Given the description of an element on the screen output the (x, y) to click on. 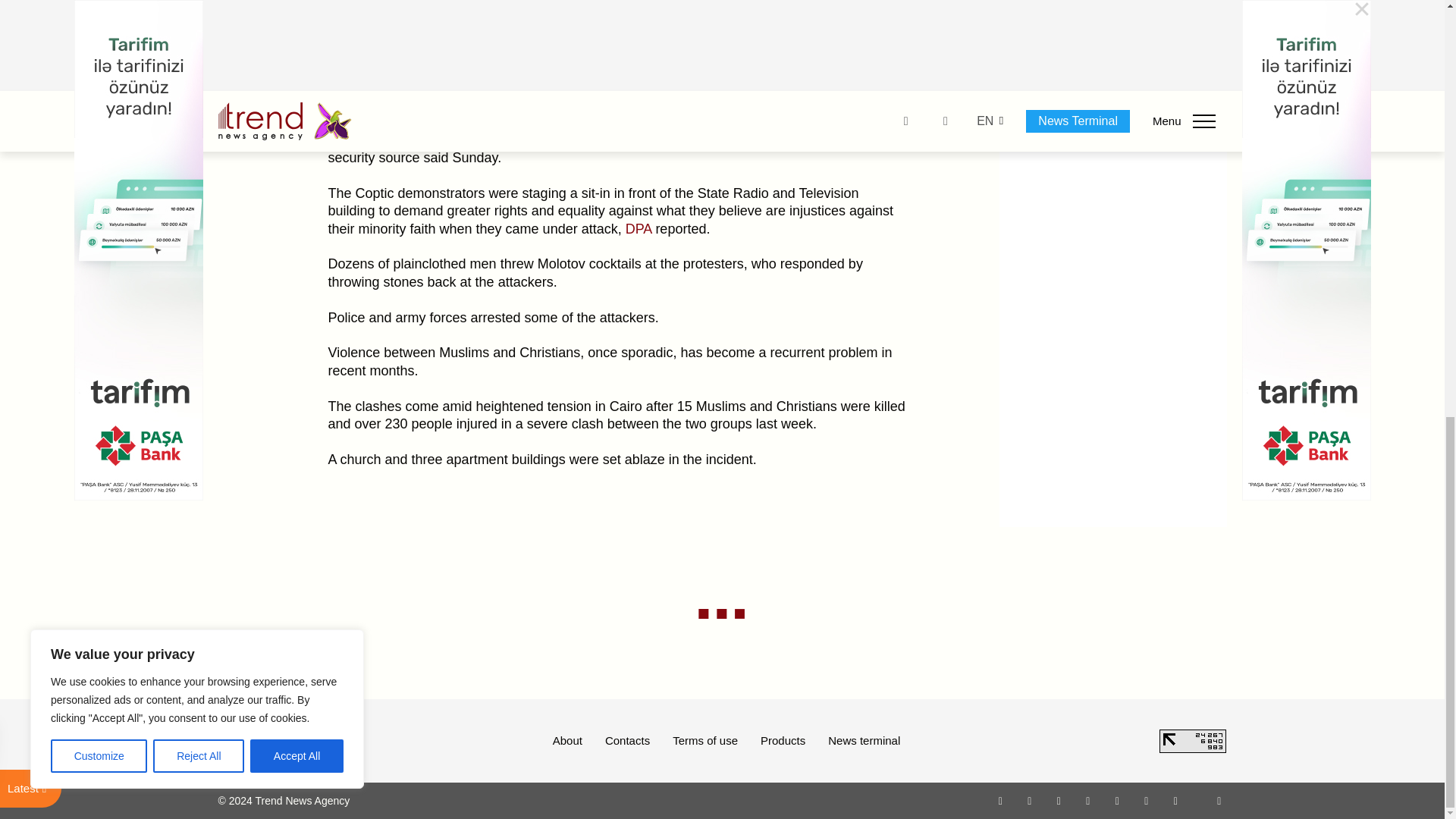
Facebook (1029, 800)
Youtube (1088, 800)
Telegram (1117, 800)
Twitter (1059, 800)
Android App (1176, 800)
Whatsapp (1000, 800)
LinkedIn (1146, 800)
RSS Feed (1219, 800)
